Given the description of an element on the screen output the (x, y) to click on. 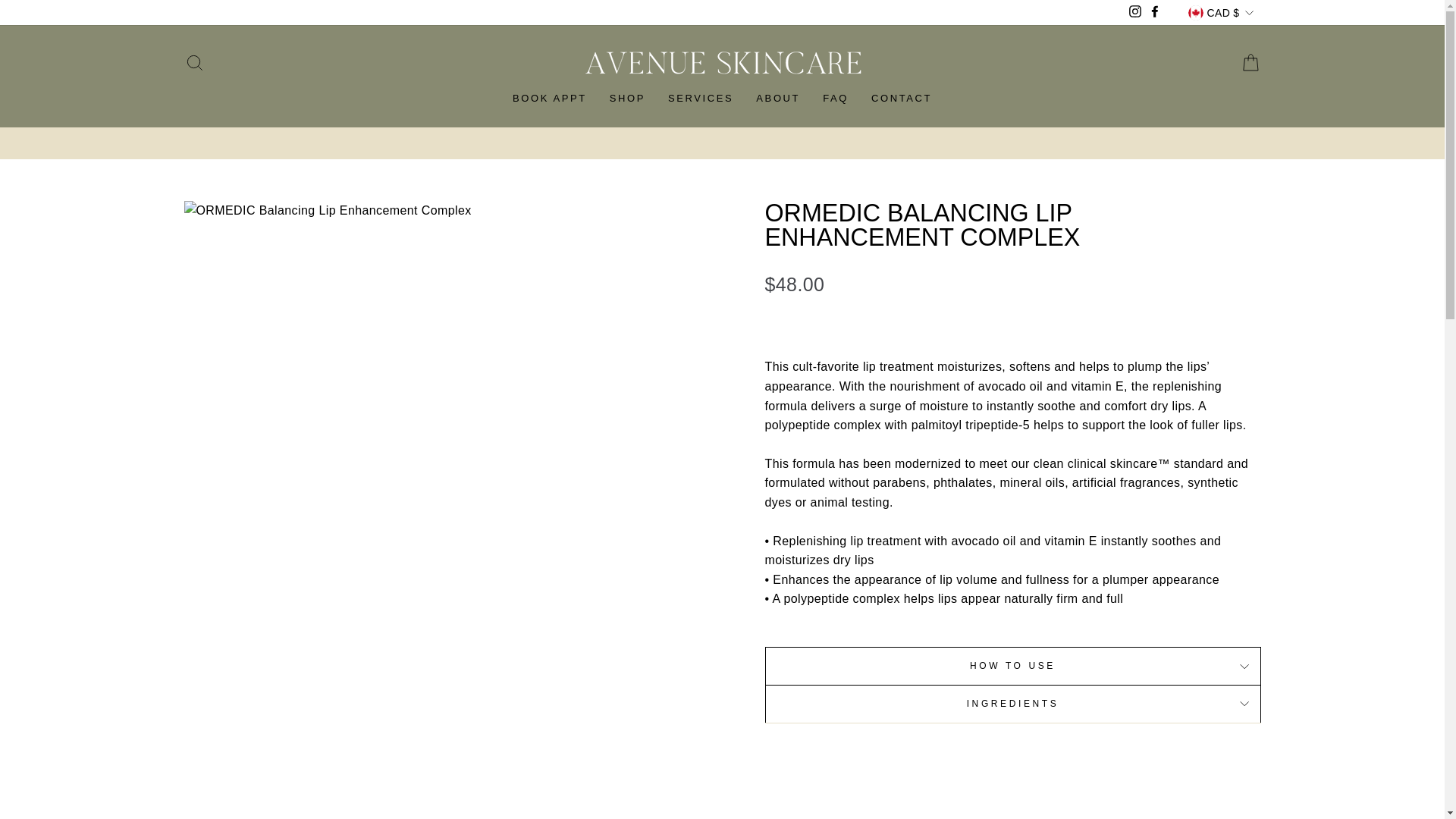
Avenue Skin Care on Instagram (1134, 12)
Avenue Skin Care on Facebook (1154, 12)
